Given the description of an element on the screen output the (x, y) to click on. 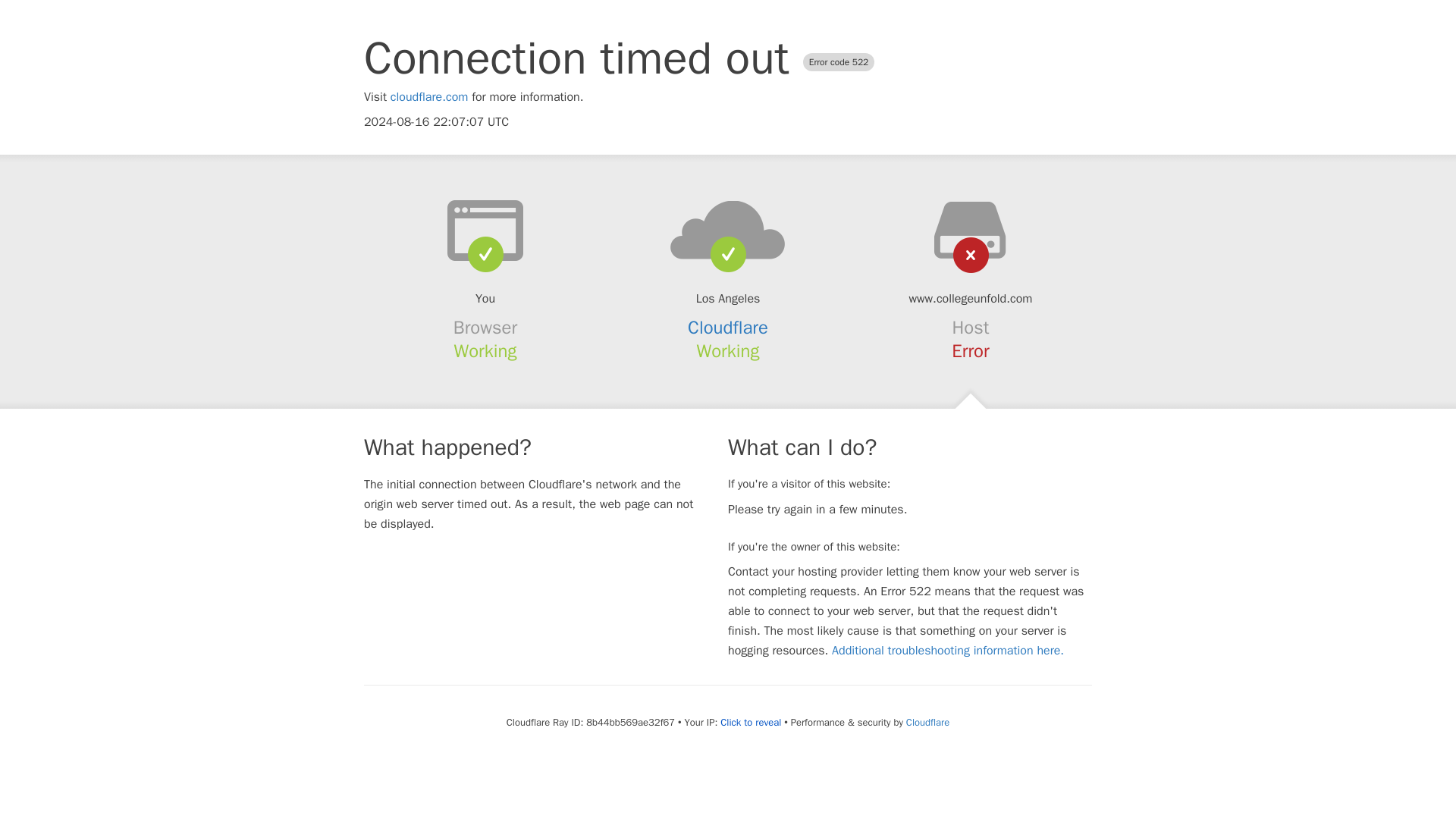
Additional troubleshooting information here. (947, 650)
Cloudflare (927, 721)
Cloudflare (727, 327)
Click to reveal (750, 722)
cloudflare.com (429, 96)
